Given the description of an element on the screen output the (x, y) to click on. 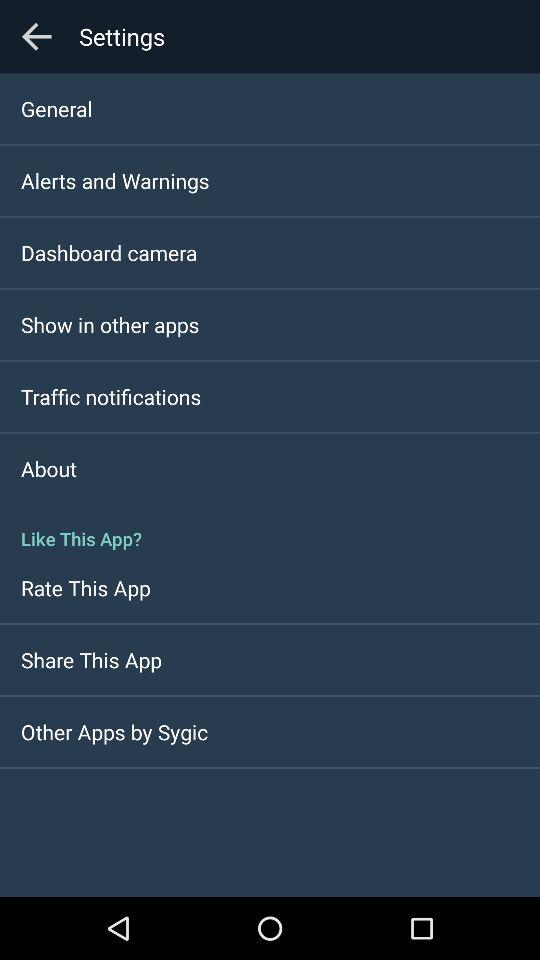
choose the show in other icon (110, 324)
